Given the description of an element on the screen output the (x, y) to click on. 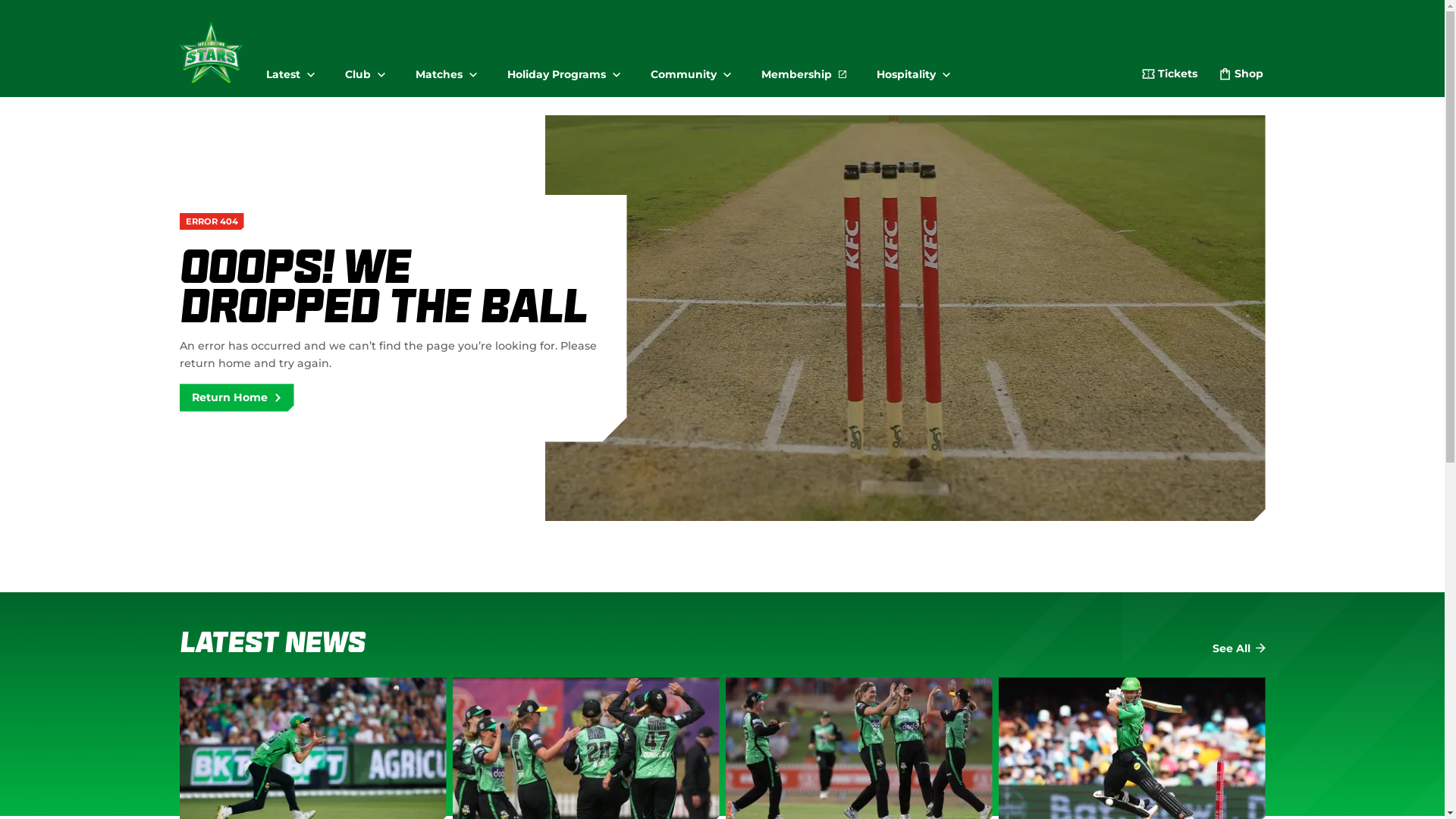
Shop
(opens new window) Element type: text (1239, 75)
Tickets Element type: text (1169, 75)
Latest Element type: text (290, 68)
Return to Homepage Element type: hover (210, 51)
Club Element type: text (364, 68)
Membership
  (opens new window) Element type: text (803, 68)
Community Element type: text (690, 68)
Hospitality Element type: text (913, 68)
See All Element type: text (1237, 648)
Return Home Element type: text (235, 397)
Matches Element type: text (446, 68)
Holiday Programs Element type: text (563, 68)
